Given the description of an element on the screen output the (x, y) to click on. 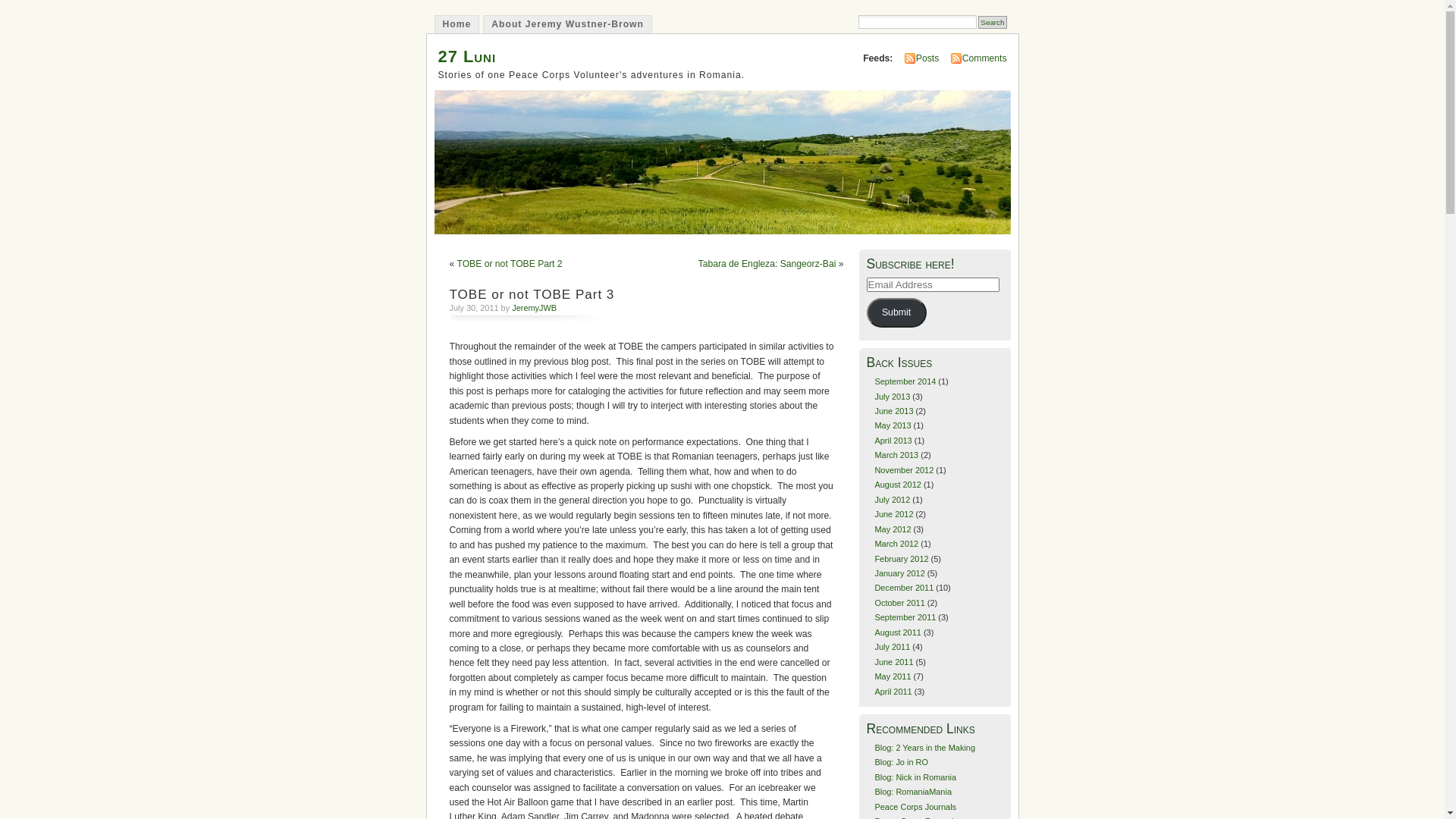
Blog: 2 Years in the Making Element type: text (924, 747)
July 2012 Element type: text (892, 499)
November 2012 Element type: text (903, 469)
May 2013 Element type: text (892, 424)
Blog: RomaniaMania Element type: text (912, 791)
December 2011 Element type: text (903, 587)
June 2013 Element type: text (893, 410)
April 2013 Element type: text (892, 440)
Blog: Nick in Romania Element type: text (915, 776)
January 2012 Element type: text (899, 572)
August 2011 Element type: text (897, 632)
February 2012 Element type: text (901, 558)
Peace Corps Journals Element type: text (915, 806)
Search Element type: text (992, 21)
July 2013 Element type: text (892, 396)
About Jeremy Wustner-Brown Element type: text (567, 24)
October 2011 Element type: text (899, 602)
Home Element type: text (456, 24)
September 2011 Element type: text (904, 616)
July 2011 Element type: text (892, 646)
Tabara de Engleza: Sangeorz-Bai Element type: text (767, 263)
May 2011 Element type: text (892, 675)
Submit Element type: text (895, 312)
March 2012 Element type: text (896, 543)
27 Luni Element type: text (467, 56)
August 2012 Element type: text (897, 484)
September 2014 Element type: text (904, 380)
March 2013 Element type: text (896, 454)
Comments Element type: text (984, 58)
May 2012 Element type: text (892, 528)
Posts Element type: text (927, 58)
TOBE or not TOBE Part 2 Element type: text (508, 263)
June 2011 Element type: text (893, 661)
JeremyJWB Element type: text (533, 307)
June 2012 Element type: text (893, 513)
Blog: Jo in RO Element type: text (901, 761)
April 2011 Element type: text (892, 691)
